Given the description of an element on the screen output the (x, y) to click on. 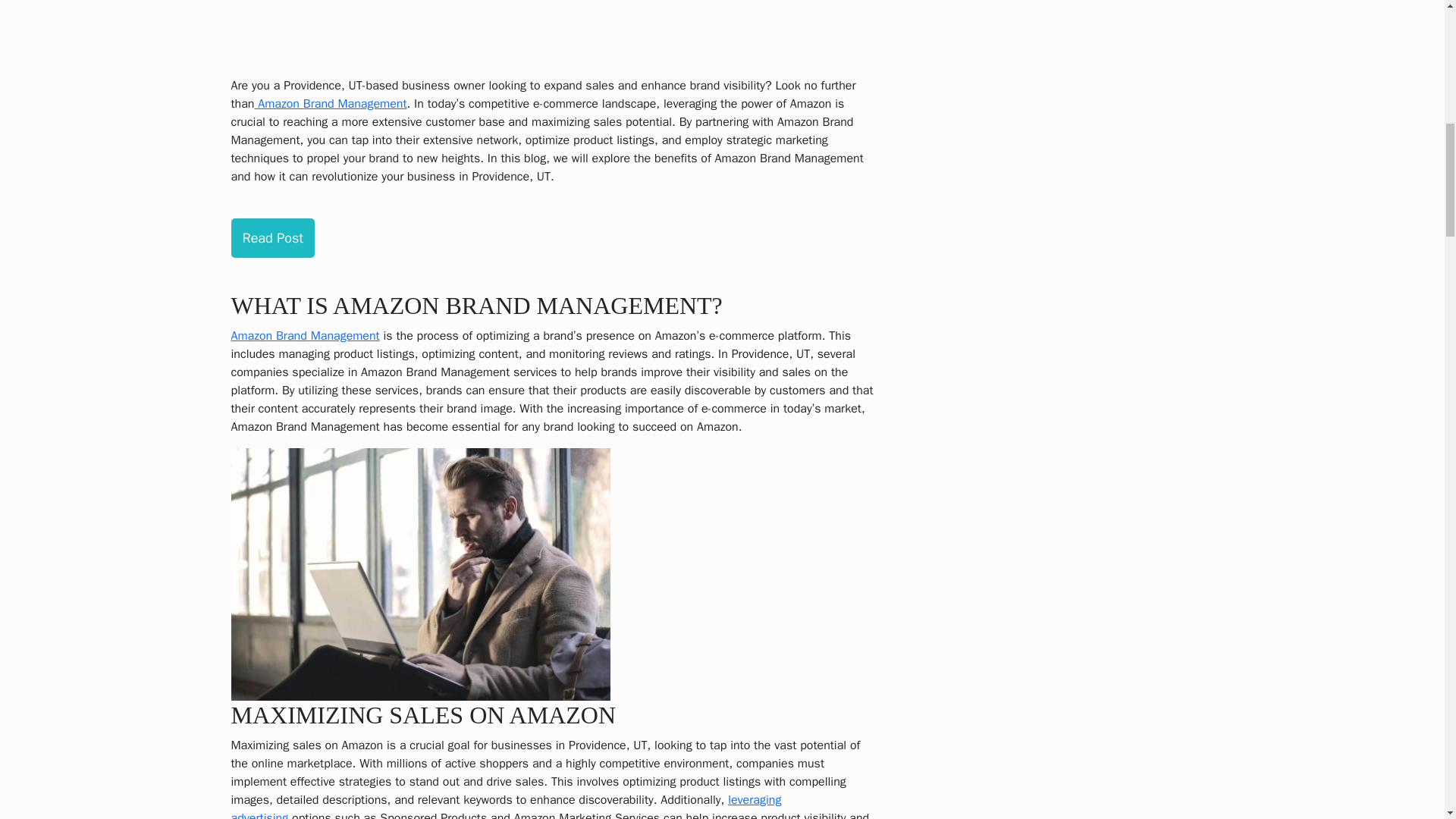
Amazon Brand Management (304, 335)
Read Post (272, 237)
 Amazon Brand Management (329, 103)
leveraging advertising (505, 805)
